Given the description of an element on the screen output the (x, y) to click on. 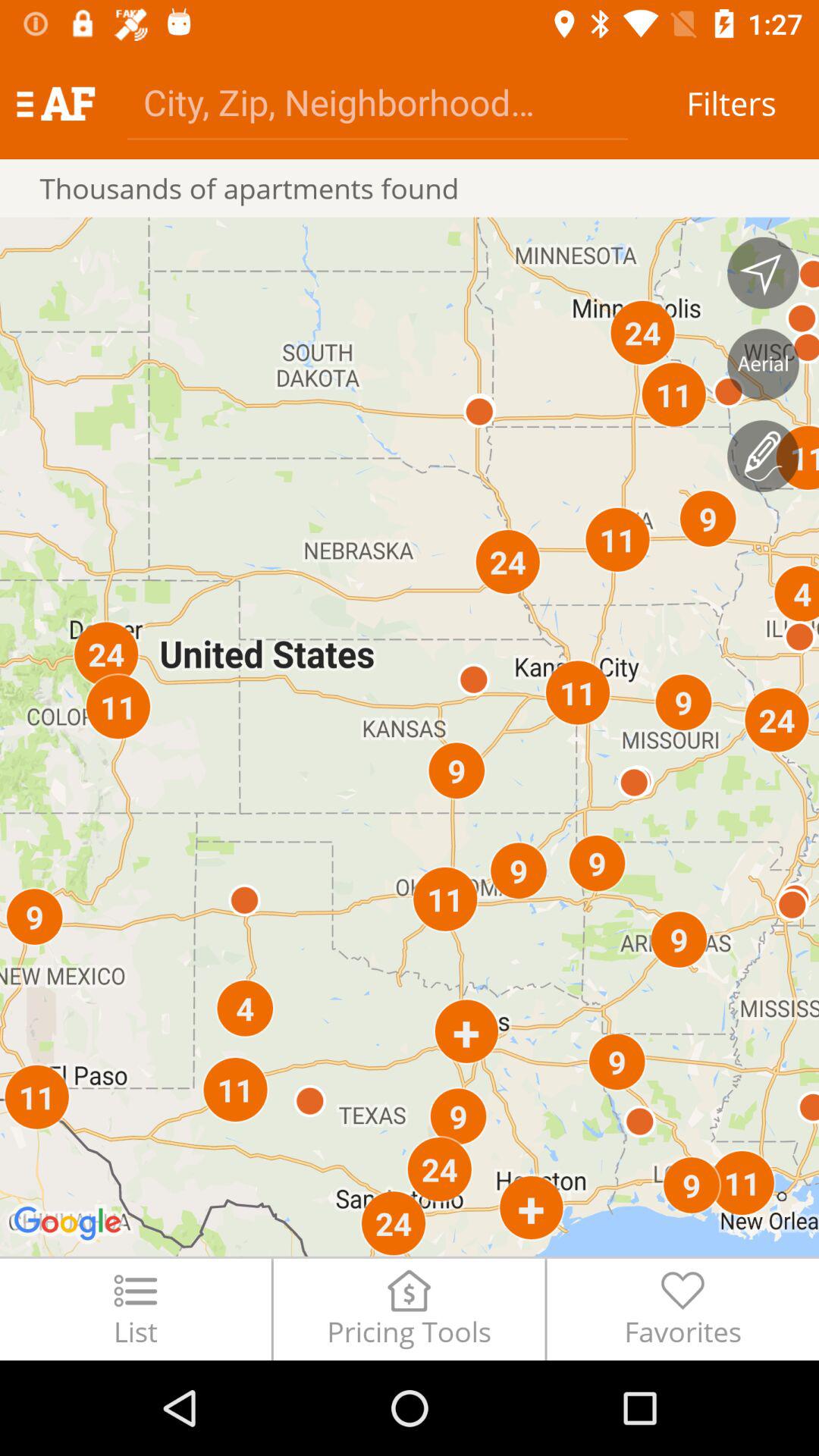
selector tool (763, 272)
